Given the description of an element on the screen output the (x, y) to click on. 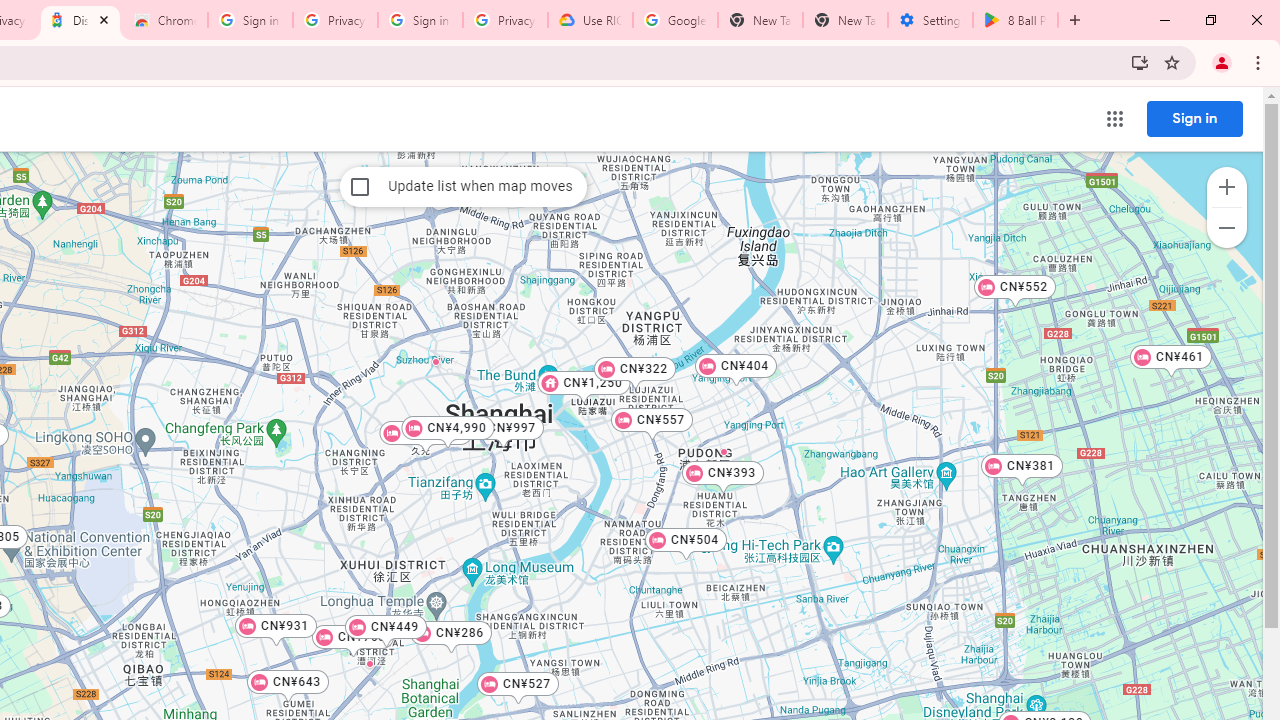
Zoom in map (1226, 187)
Sign in - Google Accounts (420, 20)
Update list when map moves (360, 186)
